Given the description of an element on the screen output the (x, y) to click on. 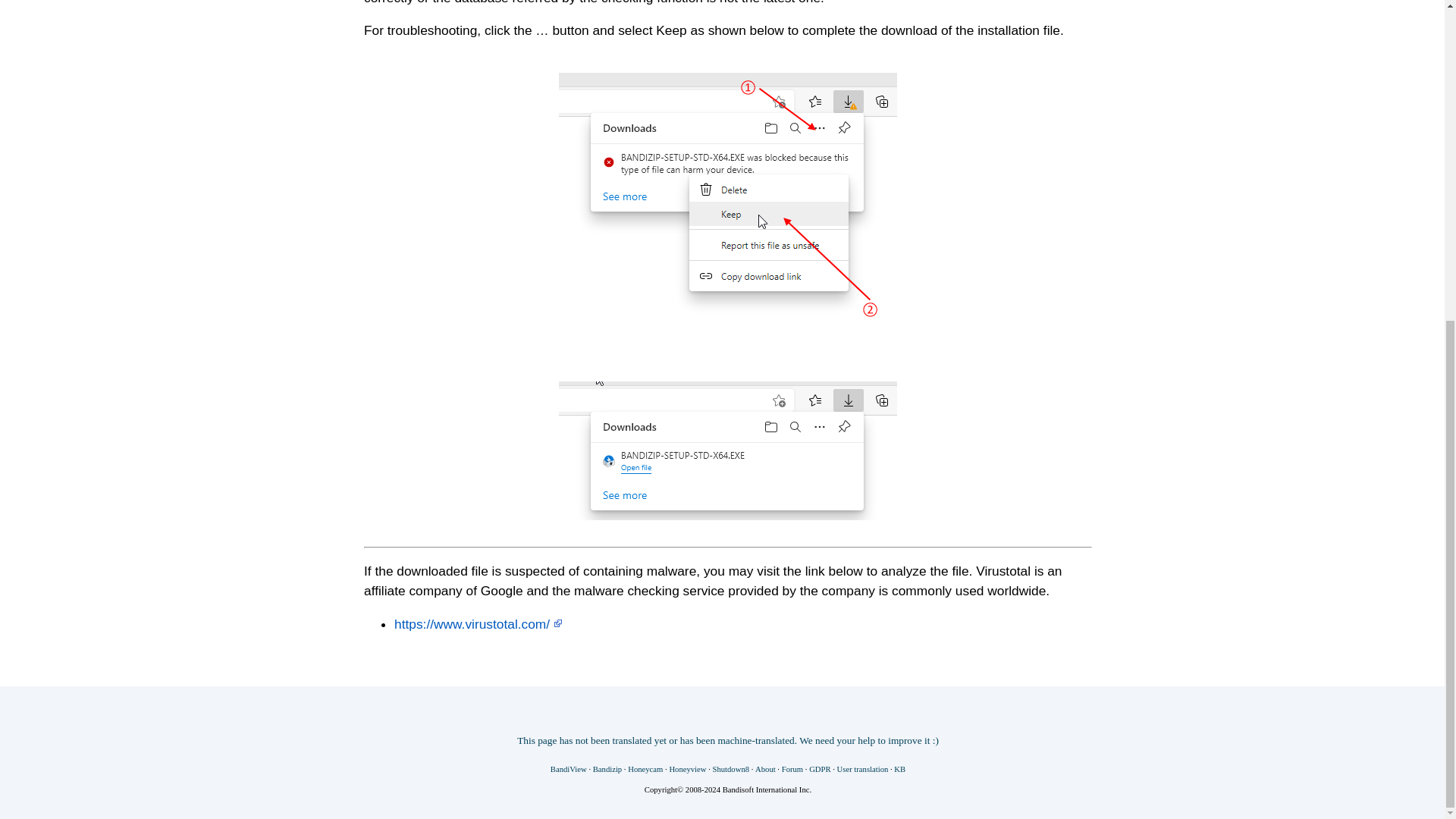
BandiView (568, 769)
Bandizip (606, 769)
Honeycam (644, 769)
Honeyview (687, 769)
